Given the description of an element on the screen output the (x, y) to click on. 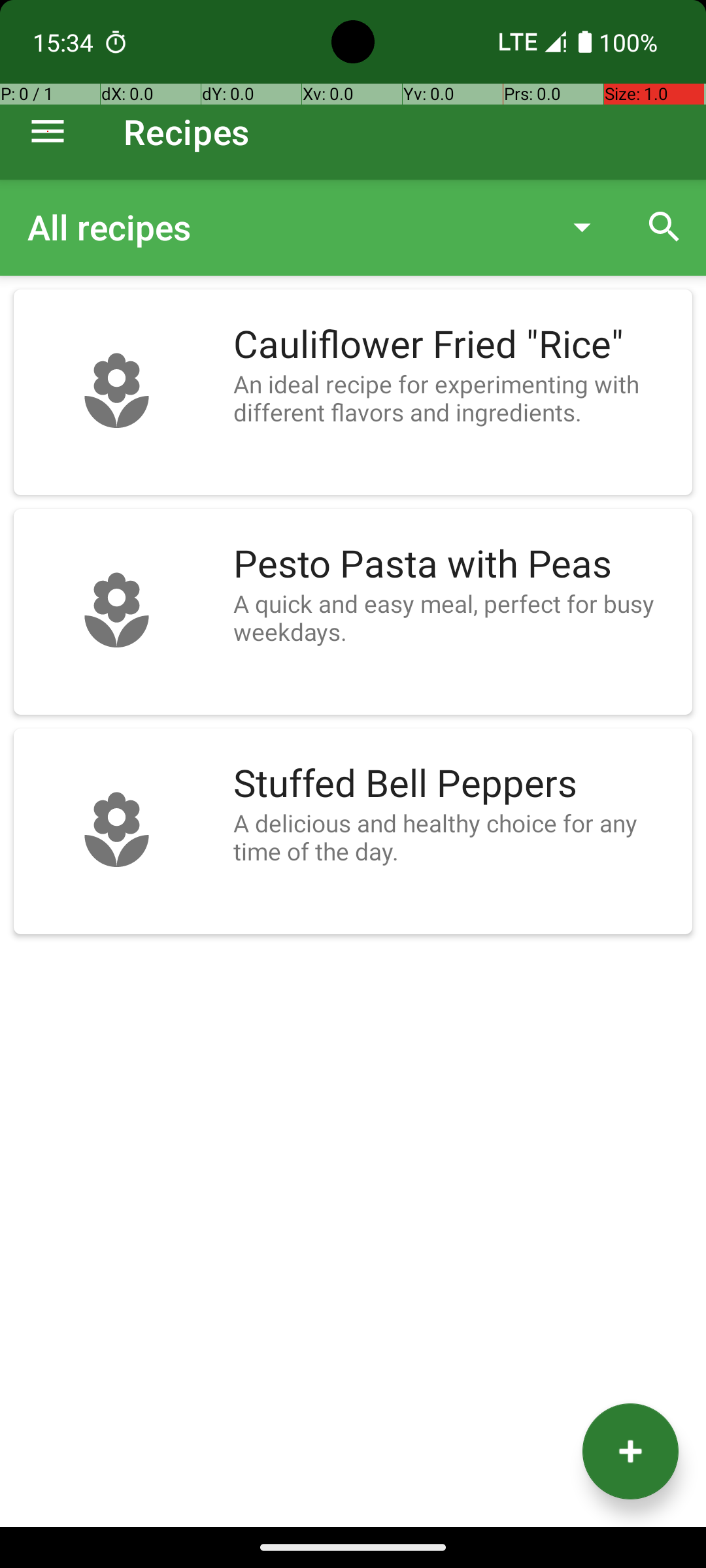
Stuffed Bell Peppers Element type: android.widget.TextView (455, 783)
